Given the description of an element on the screen output the (x, y) to click on. 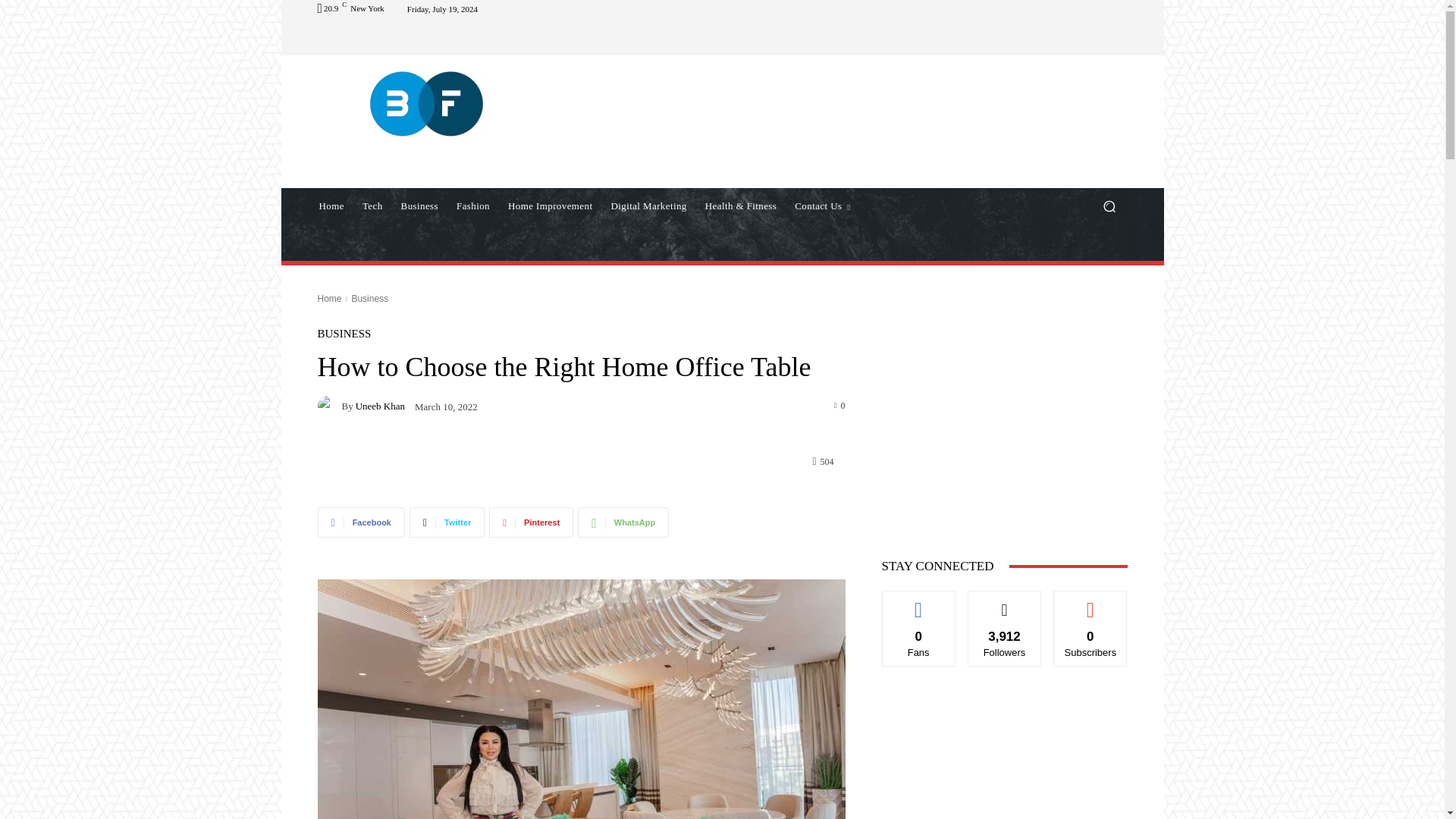
WhatsApp (623, 521)
Uneeb Khan (328, 405)
best furniture stores (580, 699)
Digital Marketing (648, 206)
Facebook (360, 521)
Home (330, 206)
Business (418, 206)
Pinterest (531, 521)
Contact Us (822, 206)
Fashion (472, 206)
Twitter (446, 521)
View all posts in Business (369, 298)
Home Improvement (550, 206)
Tech (372, 206)
